Given the description of an element on the screen output the (x, y) to click on. 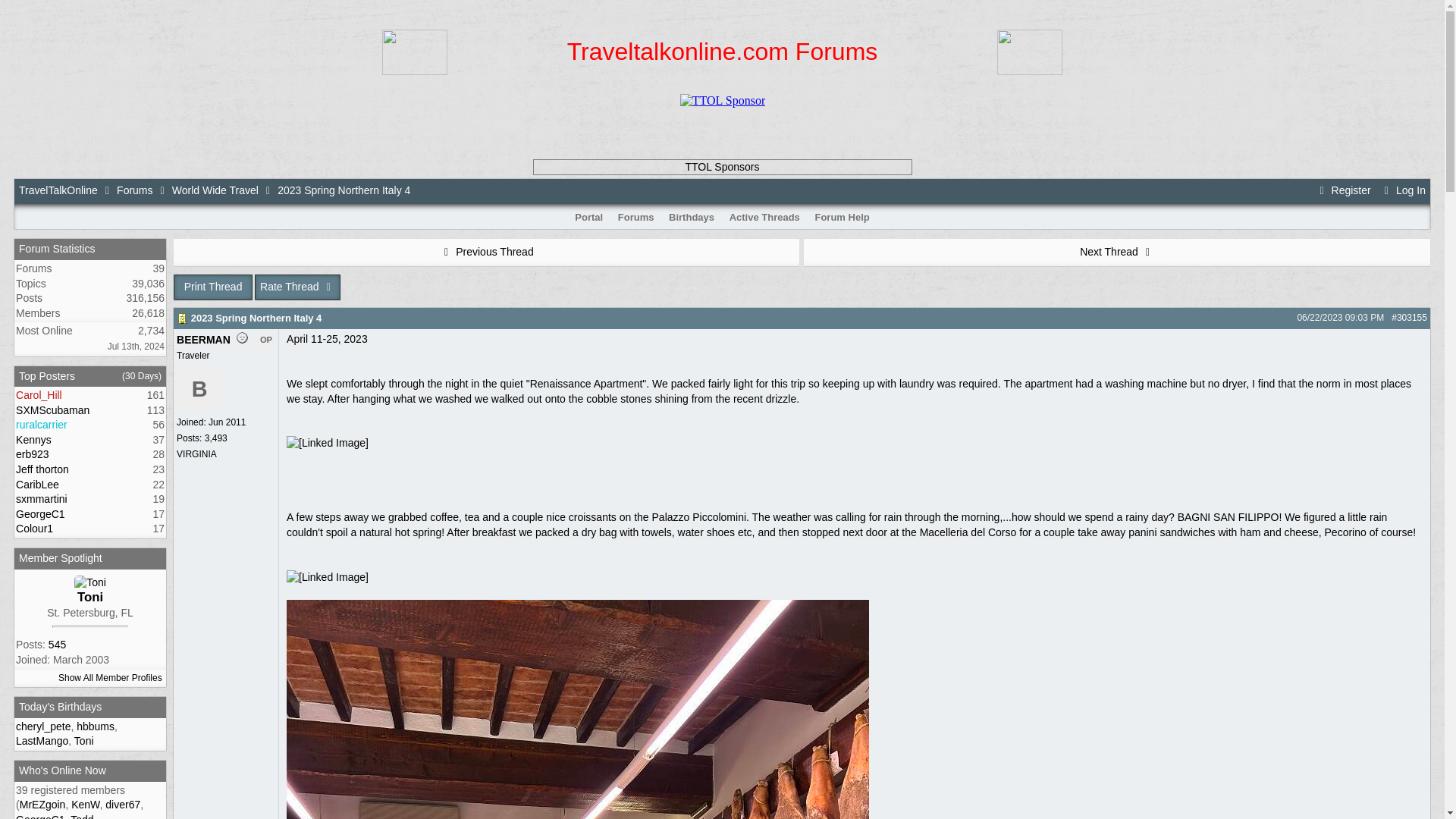
MrEZgoin (42, 804)
Active Threads (764, 217)
Todd (81, 816)
User was last active . (40, 816)
Colour1 (34, 528)
Jeff thorton (42, 469)
TTOL Sponsors (721, 166)
Birthdays (691, 217)
User was last active . (81, 816)
sxmmartini (41, 499)
GeorgeC1 (40, 513)
User was last active . (42, 804)
erb923 (32, 453)
Forum Help (841, 217)
Register (1342, 190)
